Given the description of an element on the screen output the (x, y) to click on. 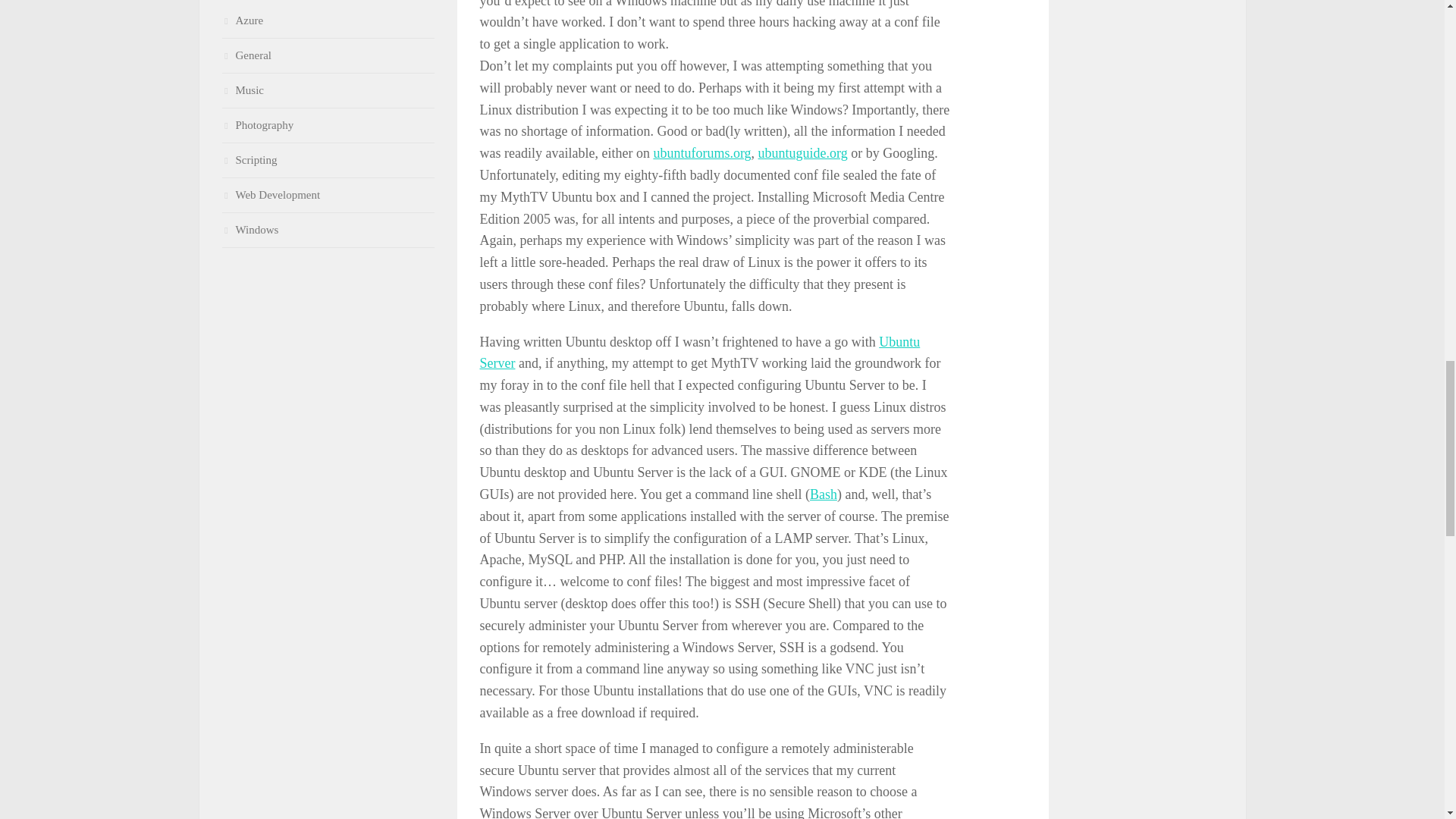
Ubuntu Server (699, 352)
Bash (823, 494)
Bash (823, 494)
Ubuntu Server (699, 352)
ubuntuforums.org (701, 152)
ubuntuguide.org (802, 152)
